Given the description of an element on the screen output the (x, y) to click on. 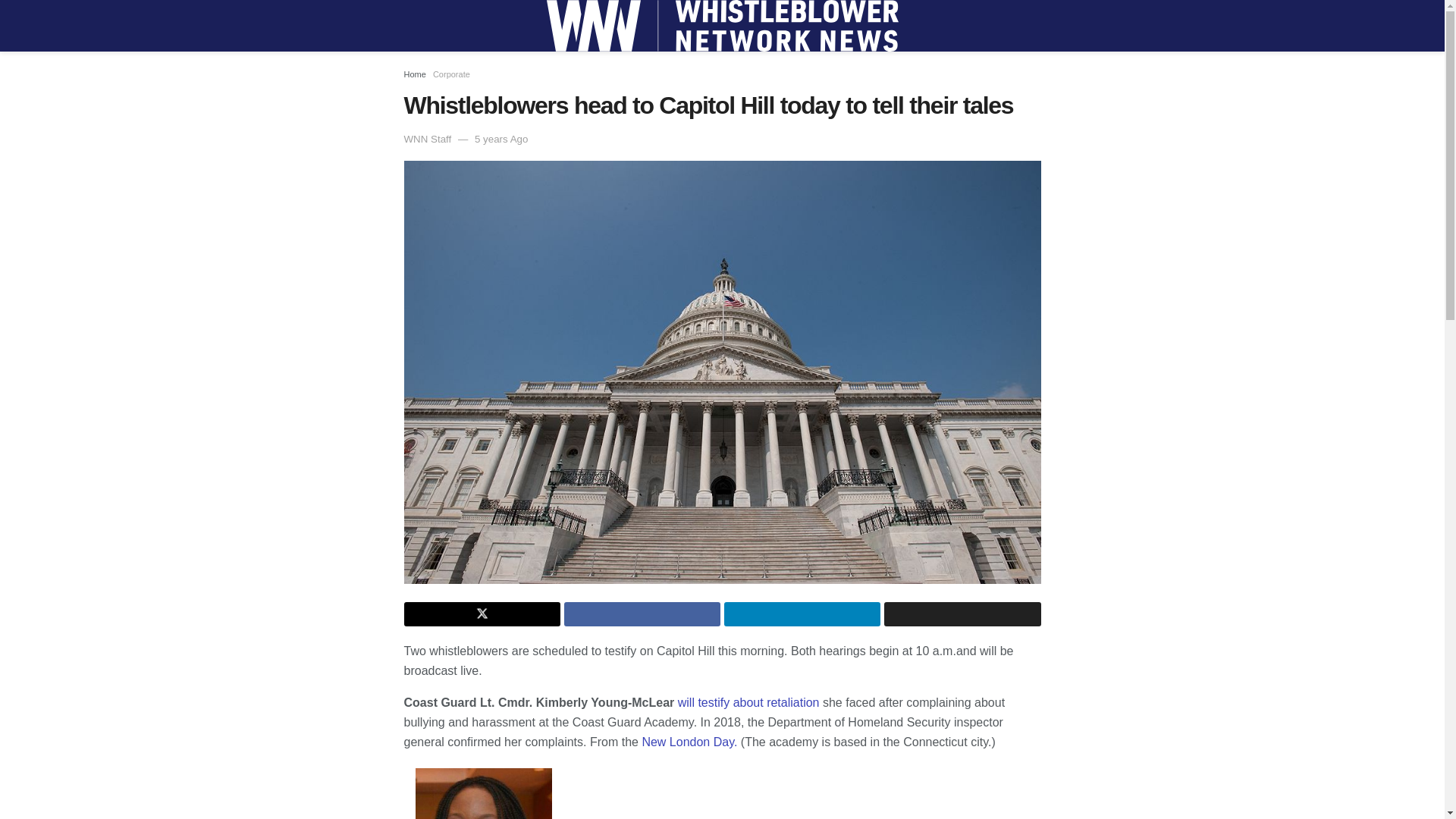
Home (414, 73)
Corporate (451, 73)
New London Day. (687, 741)
will testify about retaliation (748, 702)
